Given the description of an element on the screen output the (x, y) to click on. 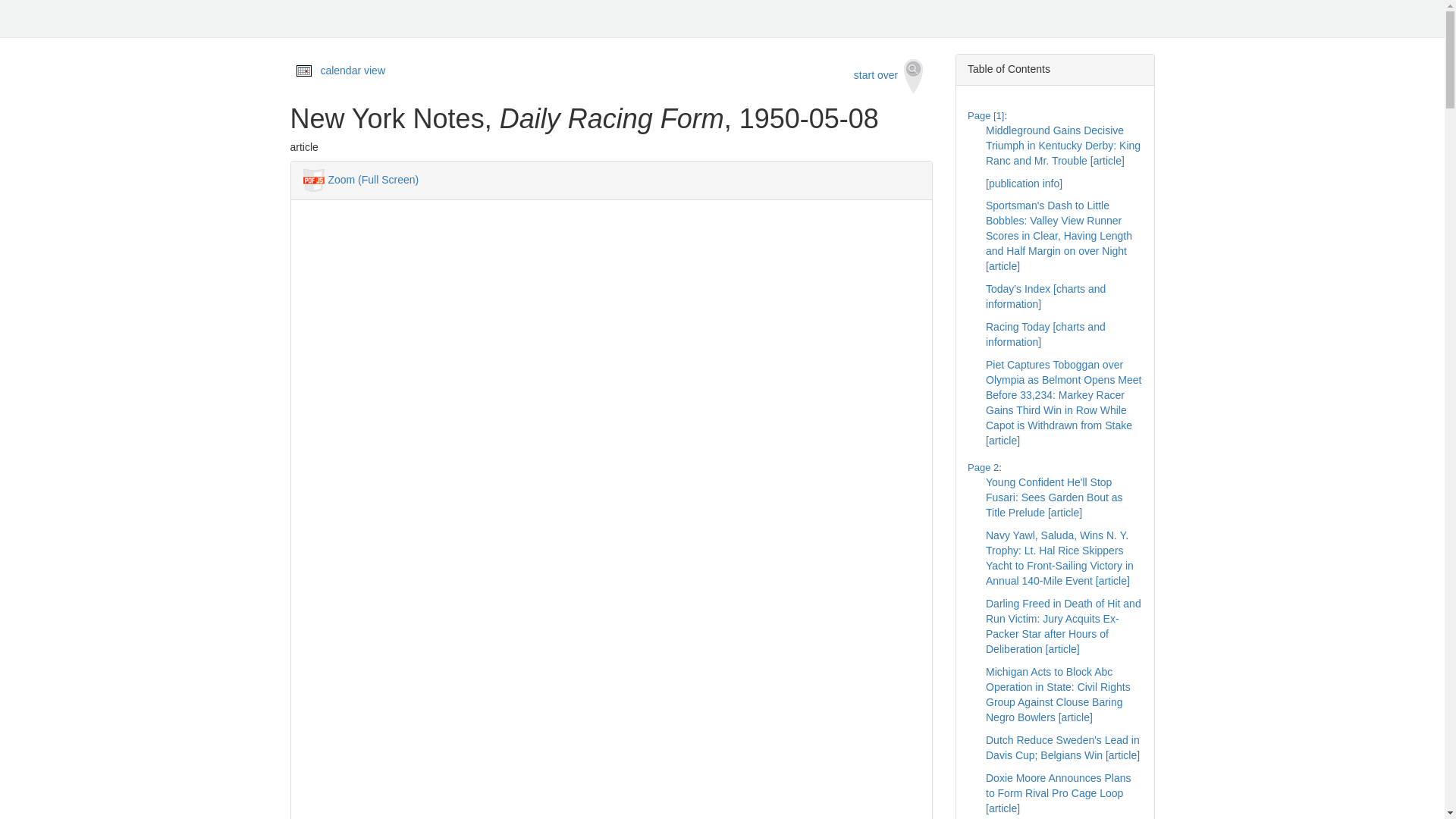
start over   (888, 76)
calendar view (352, 70)
Page 2 (983, 467)
